Given the description of an element on the screen output the (x, y) to click on. 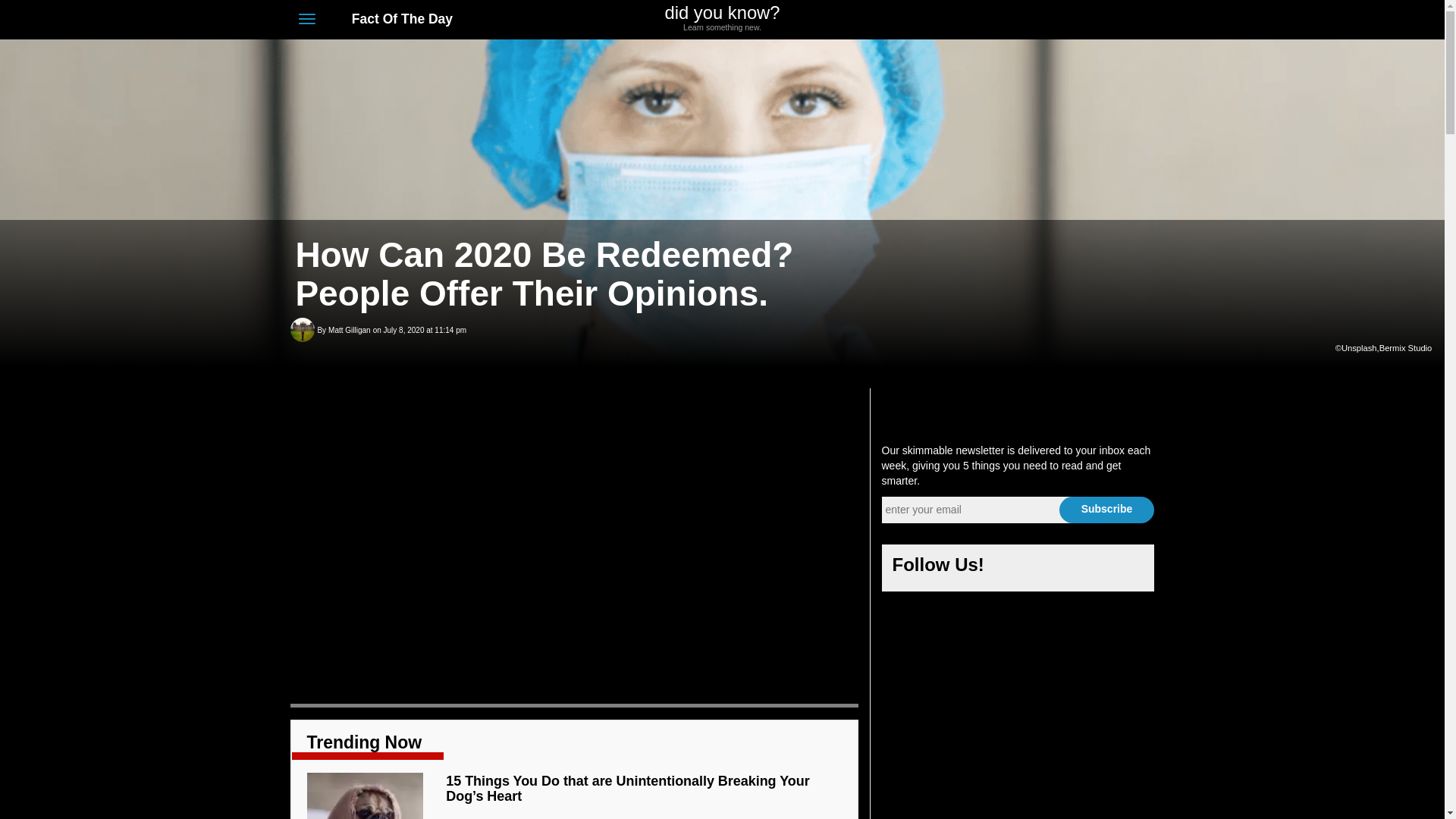
Subscribe (1106, 509)
Posts by Matt Gilligan (349, 330)
Matt Gilligan (349, 330)
Tumblr (1127, 569)
Tumblr (1119, 20)
Subscribe (722, 18)
Twitter (1106, 509)
Instagram (1063, 20)
Facebook (1091, 20)
